Given the description of an element on the screen output the (x, y) to click on. 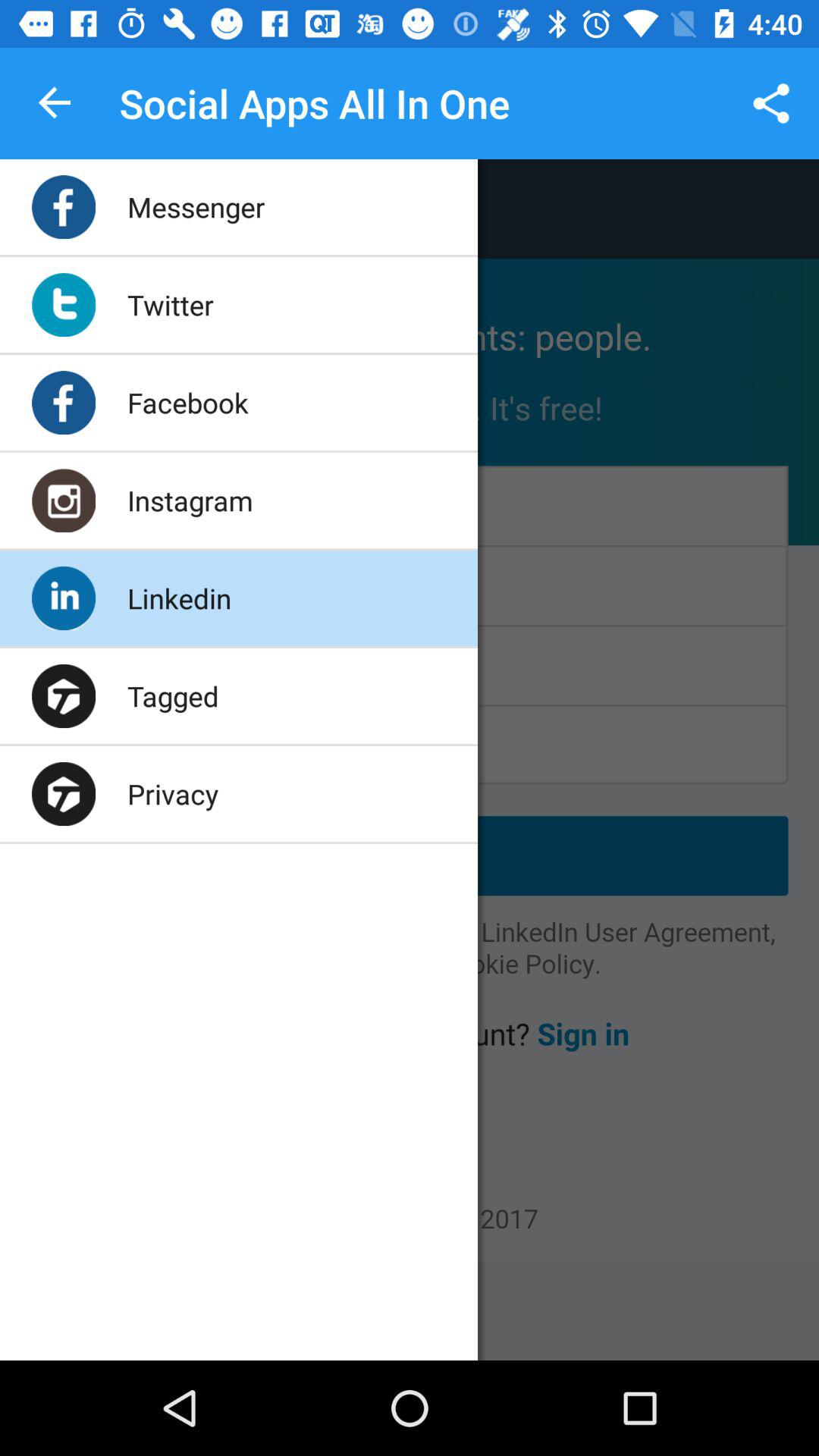
launch the icon above the instagram icon (187, 402)
